Given the description of an element on the screen output the (x, y) to click on. 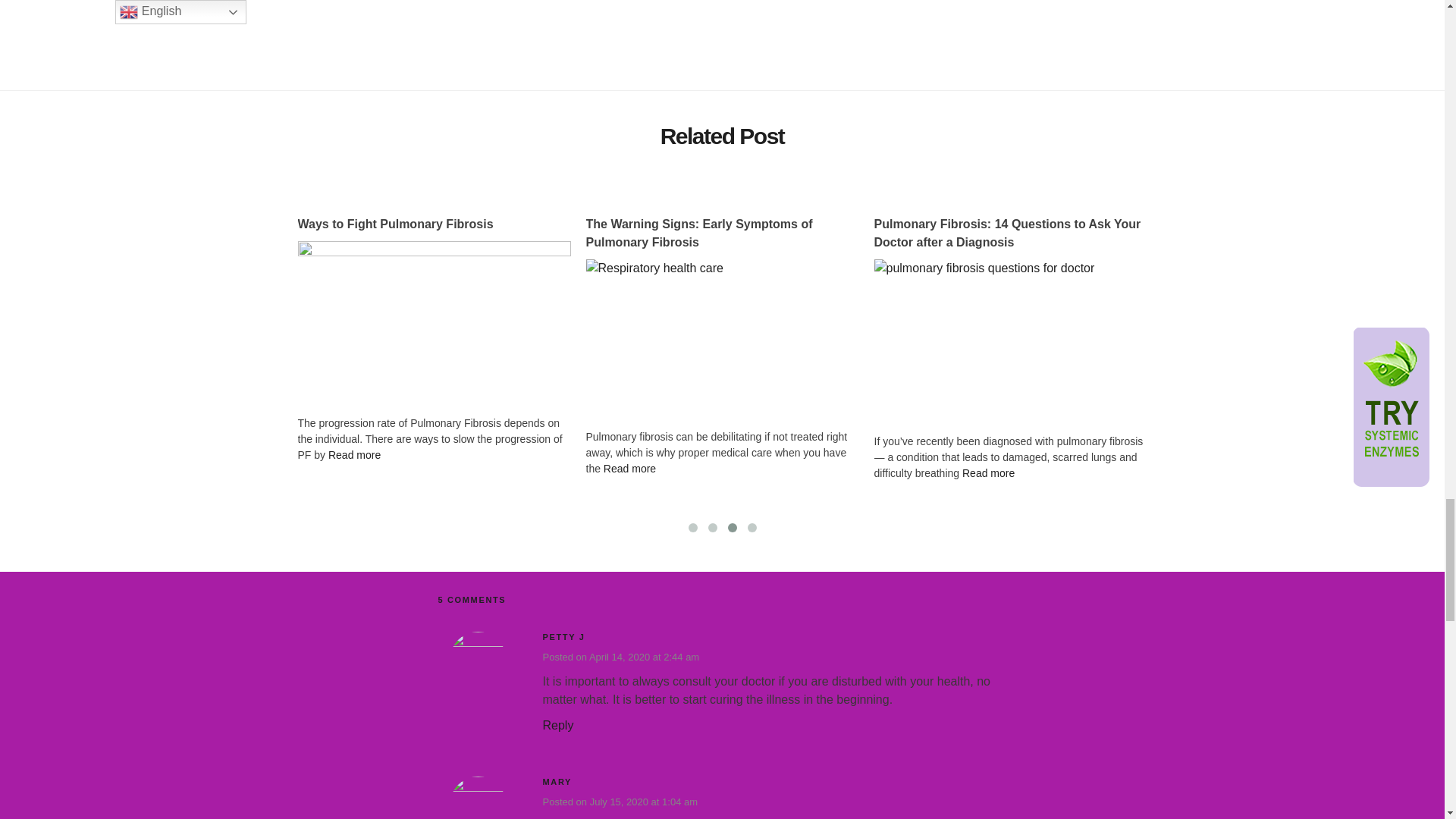
Ways to Fight Pulmonary Fibrosis (433, 331)
The Warning Signs: Early Symptoms of Pulmonary Fibrosis (722, 340)
The Warning Signs: Early Symptoms of Pulmonary Fibrosis (722, 233)
Ways to Fight Pulmonary Fibrosis (433, 224)
